Given the description of an element on the screen output the (x, y) to click on. 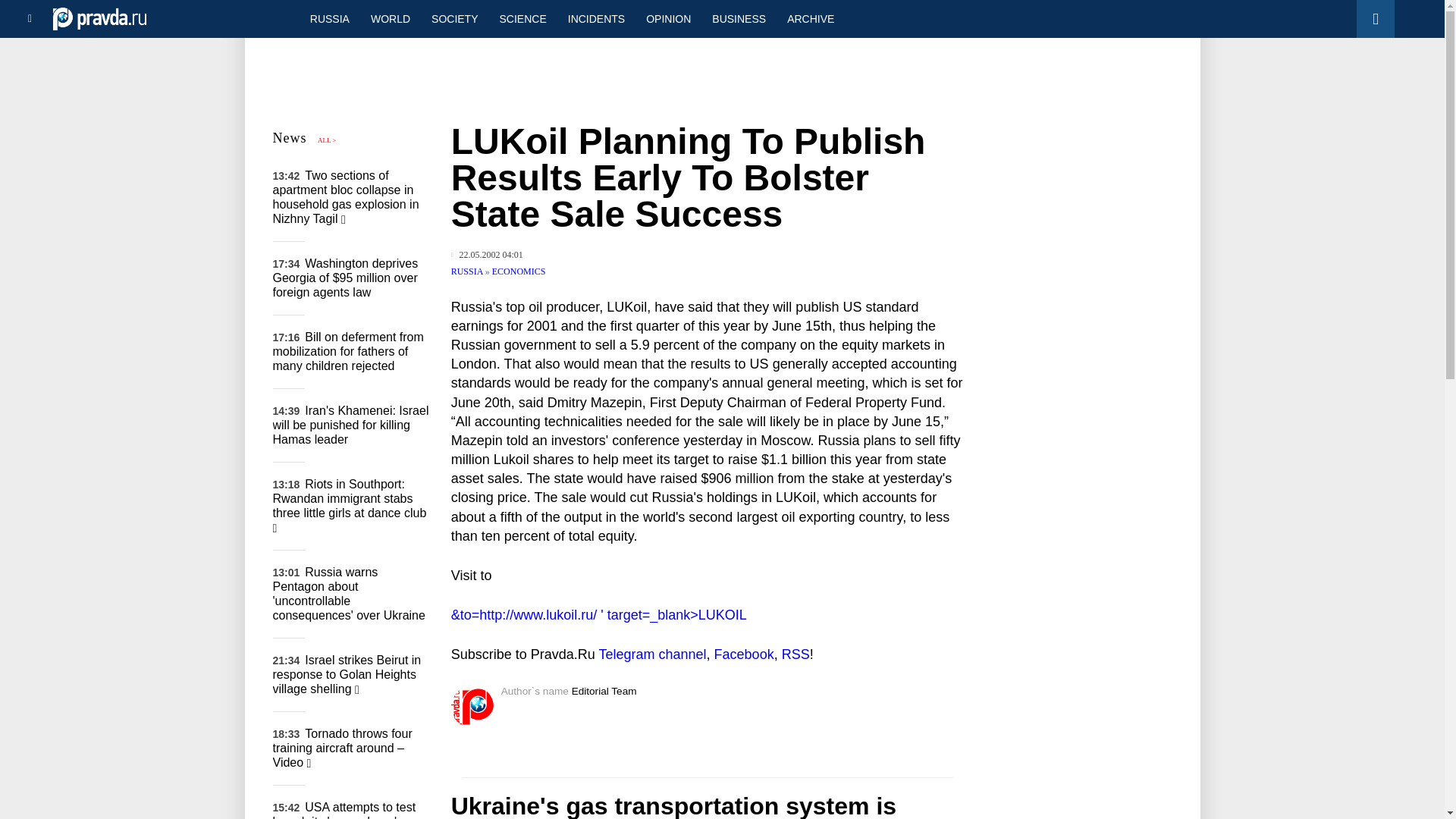
WORLD (389, 18)
ARCHIVE (810, 18)
SOCIETY (453, 18)
RSS (795, 654)
RUSSIA (467, 271)
BUSINESS (738, 18)
